Given the description of an element on the screen output the (x, y) to click on. 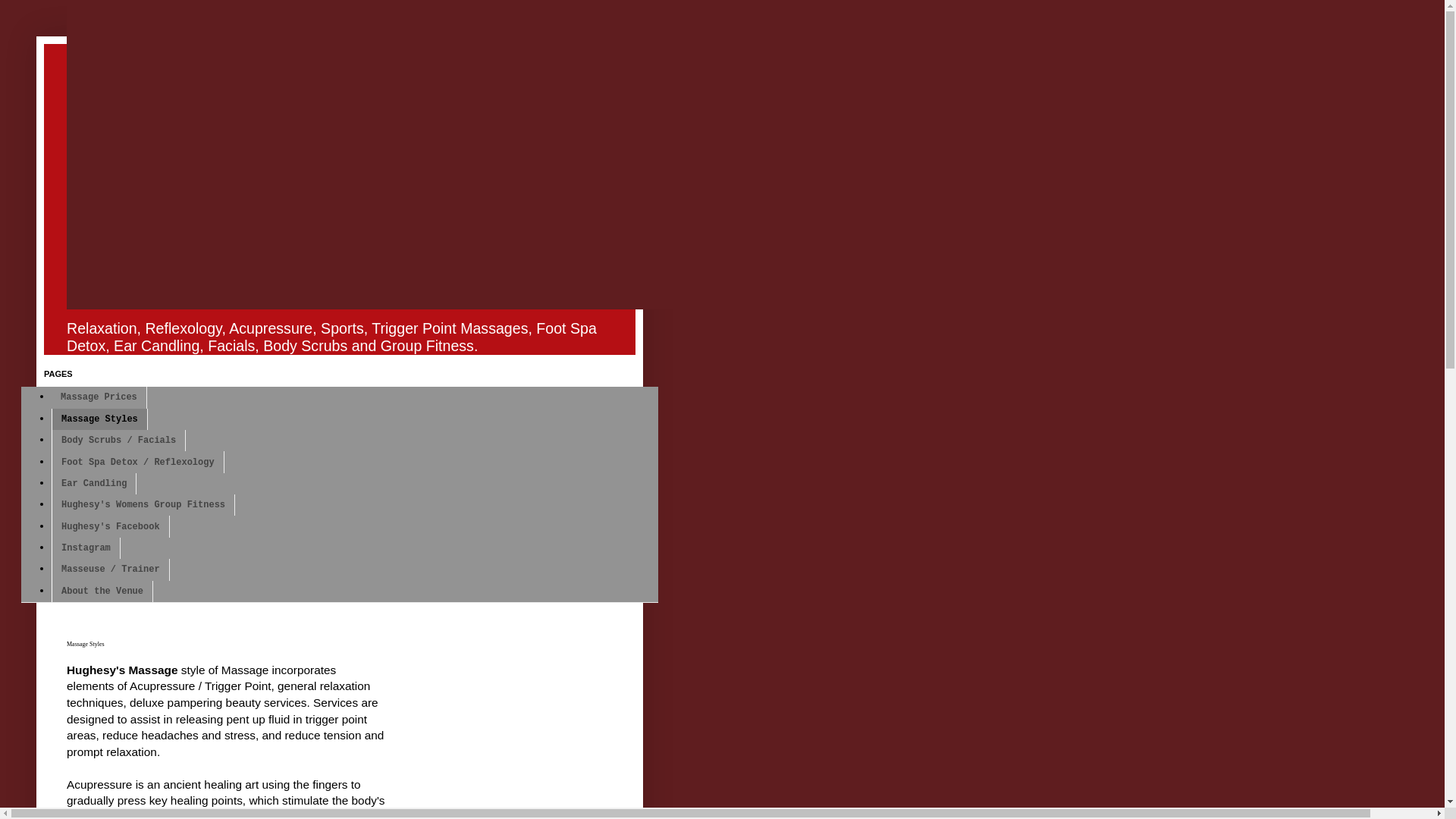
Instagram (85, 547)
Hughesy's Facebook (110, 526)
Massage Styles (99, 418)
Ear Candling (93, 483)
Massage Prices (98, 396)
About the Venue (101, 590)
Hughesy's Womens Group Fitness (142, 504)
